Given the description of an element on the screen output the (x, y) to click on. 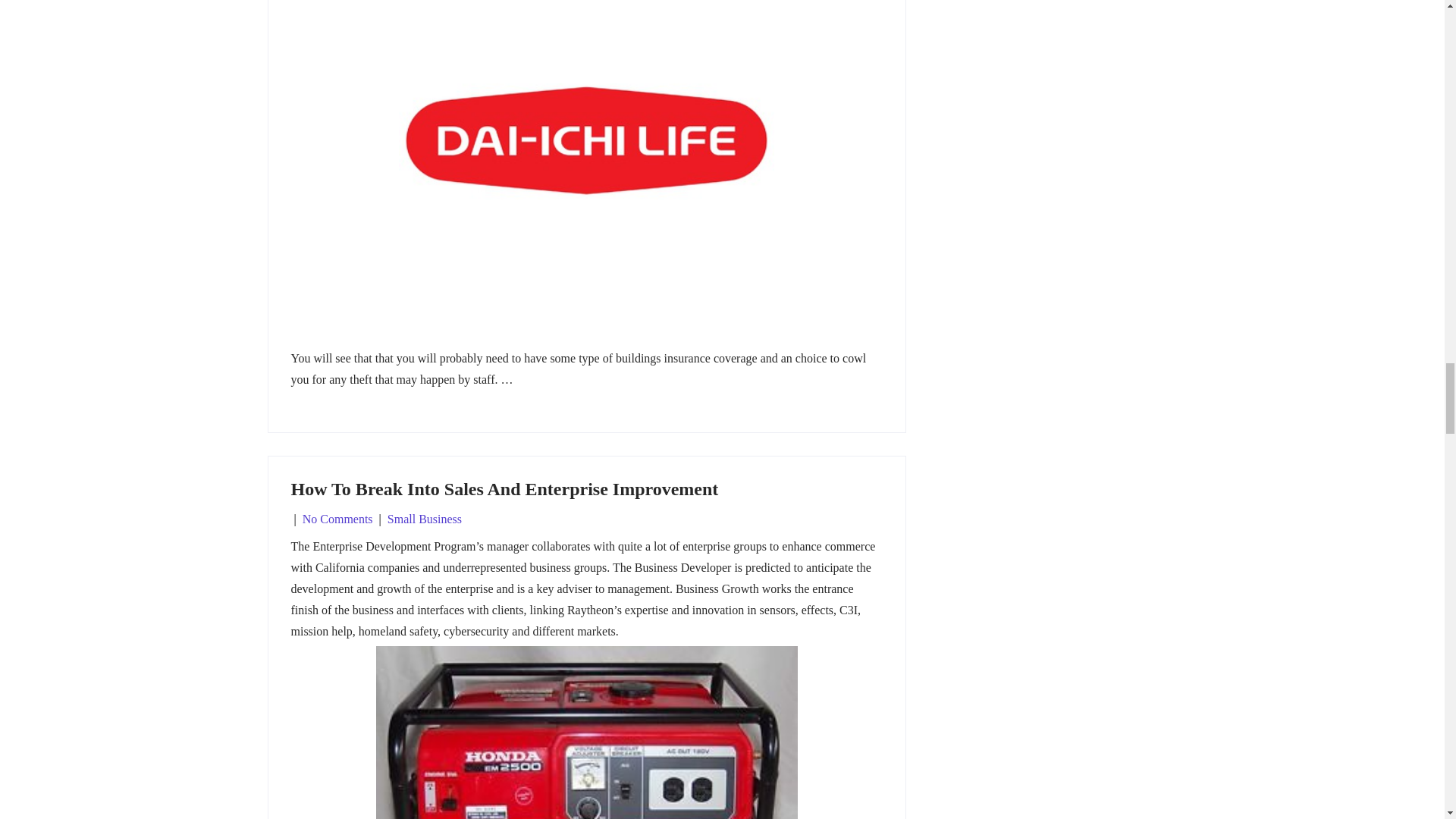
Small Business (424, 518)
How To Break Into Sales And Enterprise Improvement (505, 488)
No Comments (337, 518)
